Given the description of an element on the screen output the (x, y) to click on. 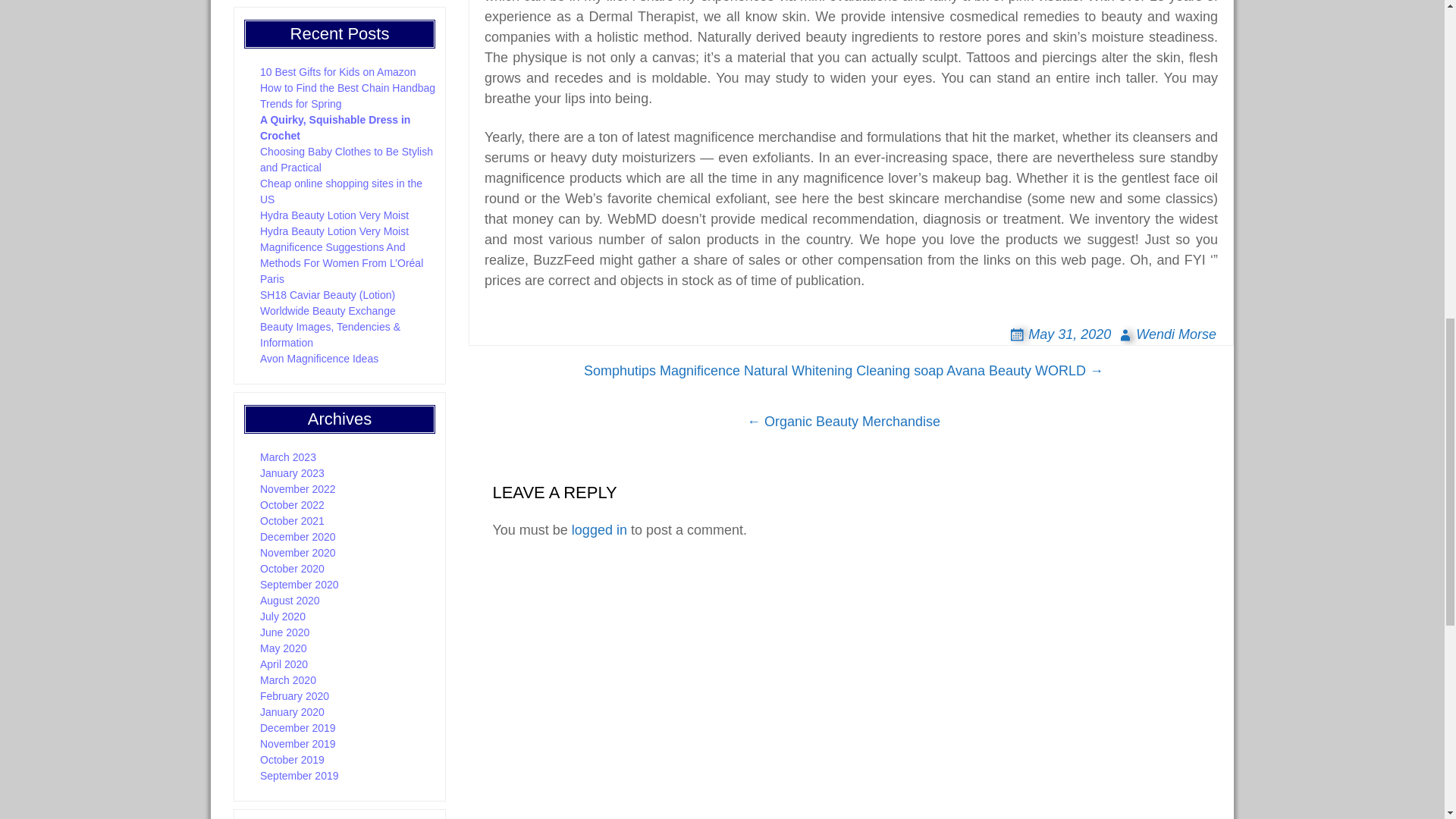
Avon Magnificence Ideas (319, 358)
Hydra Beauty Lotion Very Moist (334, 215)
January 2023 (292, 472)
November 2022 (298, 489)
How to Find the Best Chain Handbag Trends for Spring (347, 95)
A Quirky, Squishable Dress in Crochet (335, 127)
Choosing Baby Clothes to Be Stylish and Practical (346, 159)
October 2021 (292, 521)
October 2022 (292, 504)
Hydra Beauty Lotion Very Moist (334, 231)
10 Best Gifts for Kids on Amazon (337, 71)
March 2023 (287, 457)
Cheap online shopping sites in the US (341, 191)
